Given the description of an element on the screen output the (x, y) to click on. 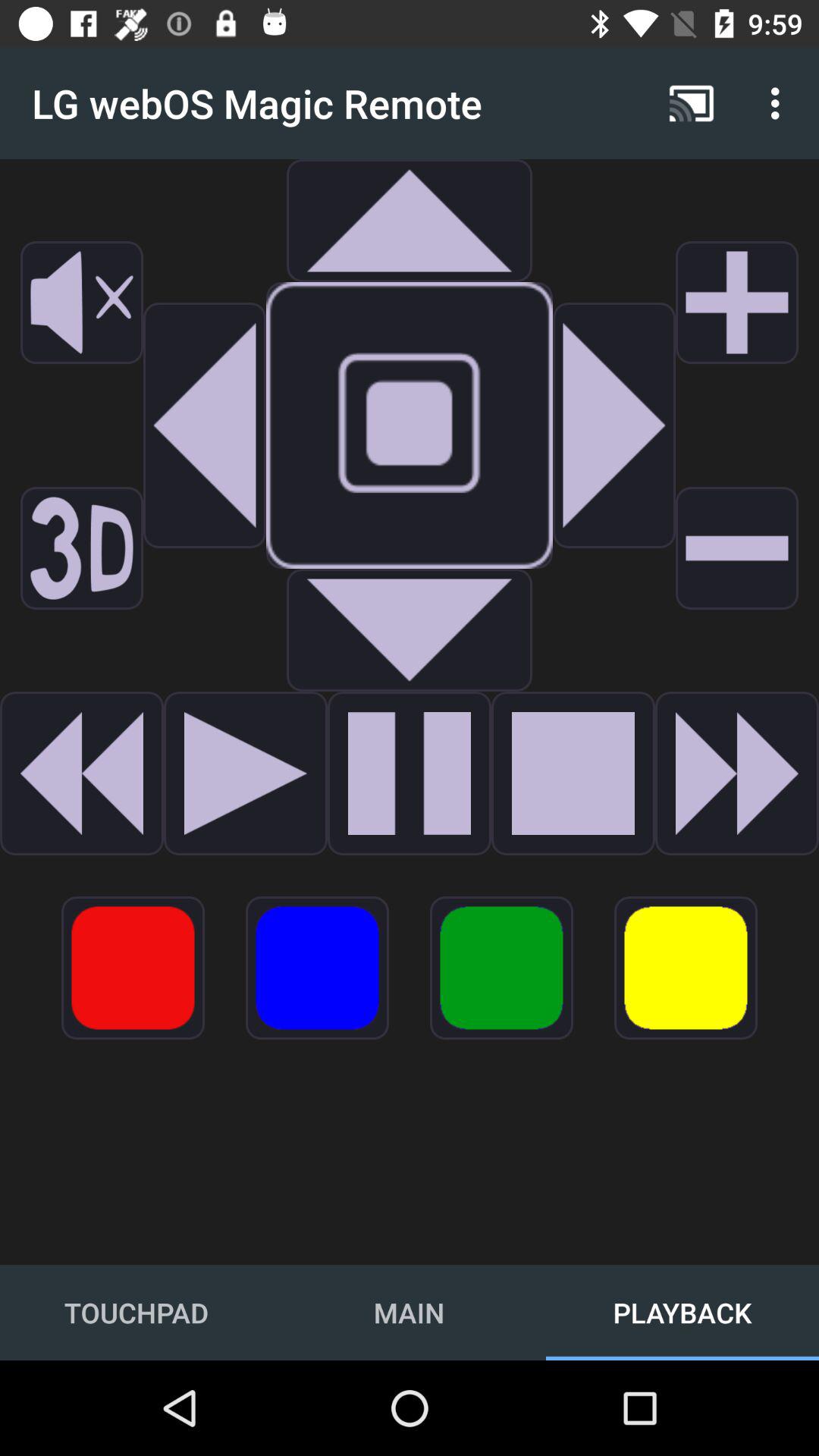
select to paly option (409, 773)
